Given the description of an element on the screen output the (x, y) to click on. 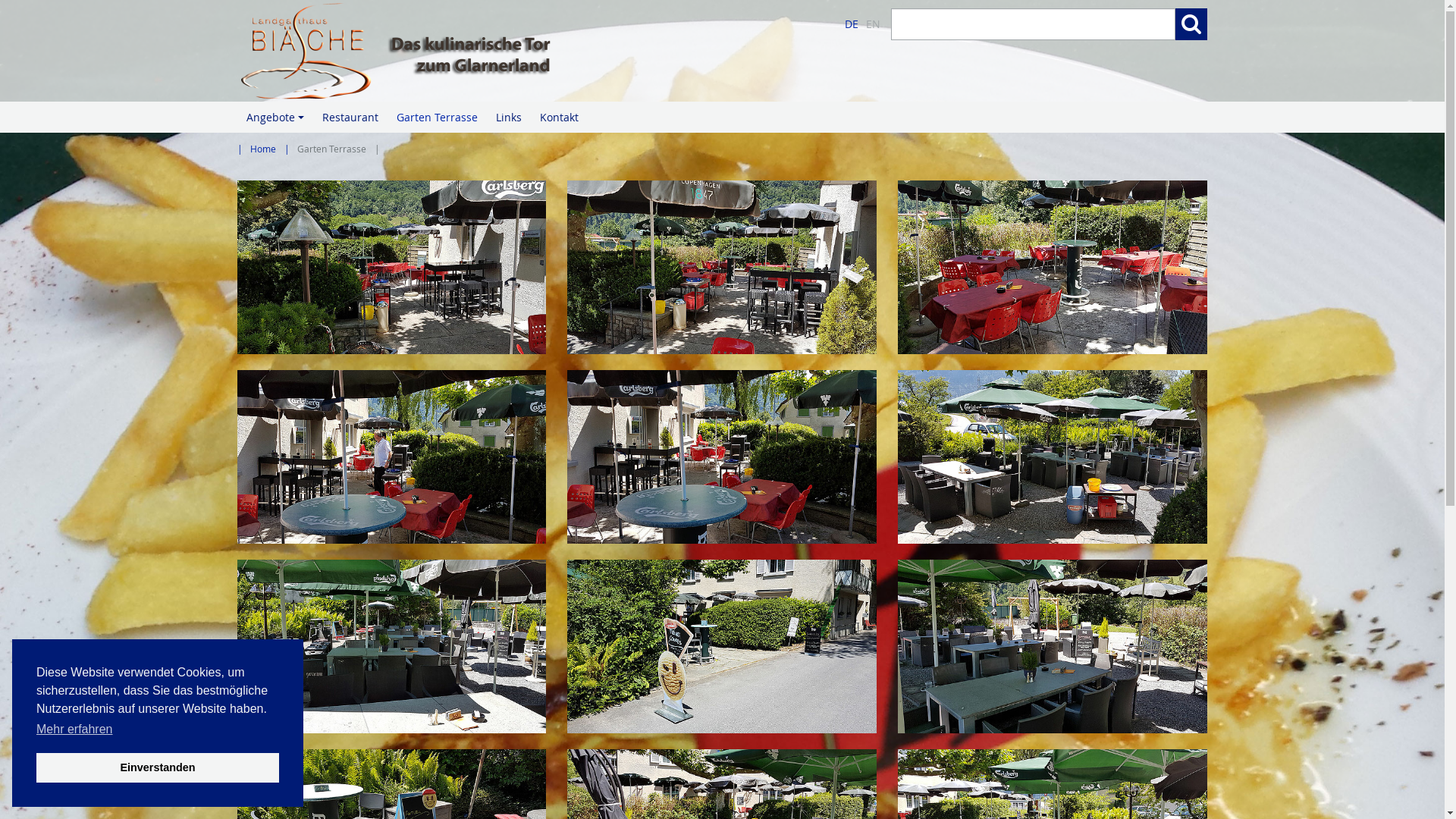
+
Angebote Element type: text (274, 116)
Links Element type: text (508, 116)
Einverstanden Element type: text (157, 767)
Home Element type: text (262, 148)
Garten Terrasse Element type: text (436, 116)
Kontakt Element type: text (558, 116)
Search Element type: text (1191, 24)
Landgasthaus Biaesche Element type: hover (473, 50)
Mehr erfahren Element type: text (74, 729)
Restaurant Element type: text (349, 116)
DE Element type: text (851, 23)
